Given the description of an element on the screen output the (x, y) to click on. 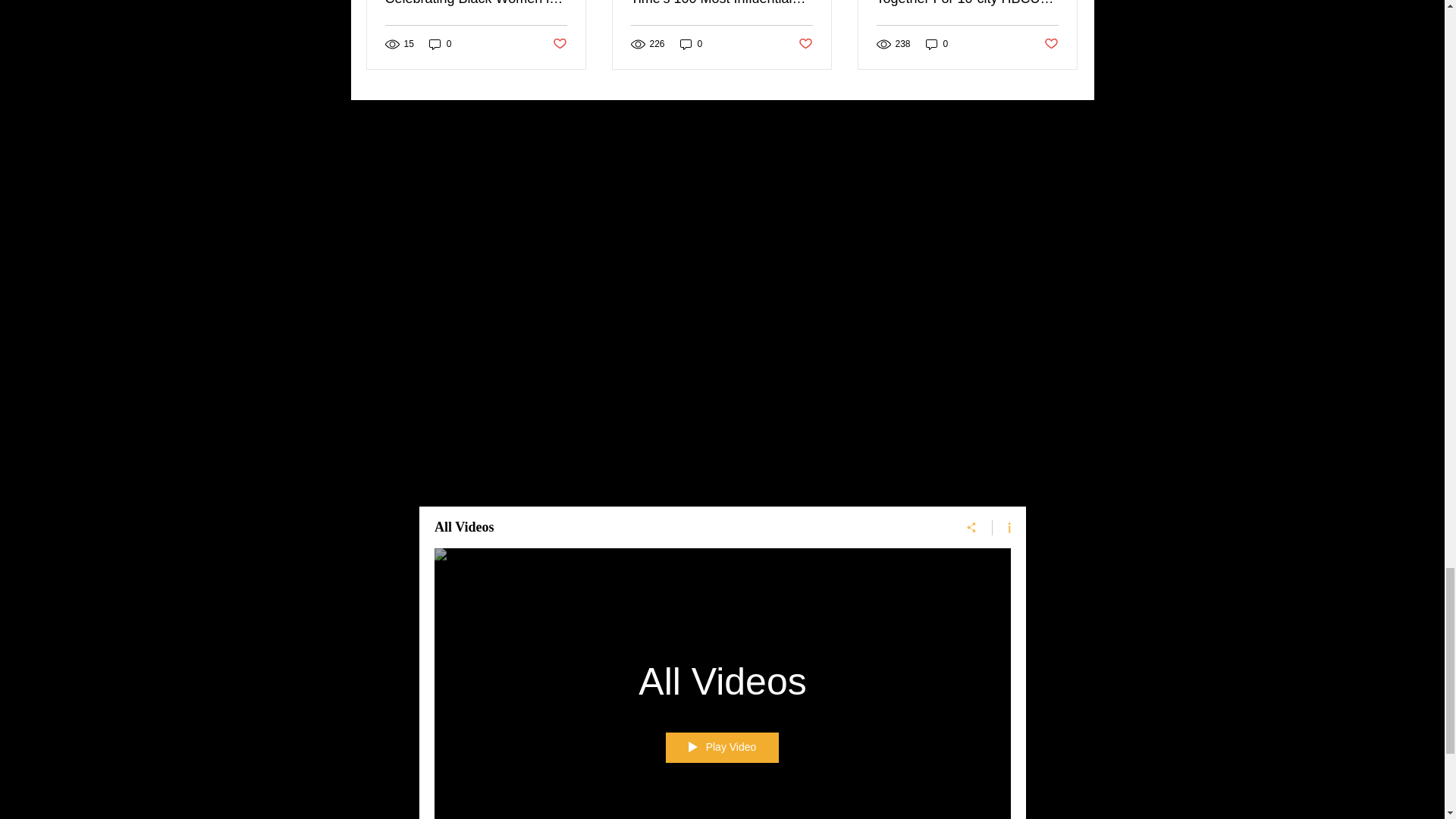
Post not marked as liked (804, 44)
Post not marked as liked (1050, 44)
All Videos (683, 527)
A Different World Back Together For 10-city HBCU Tour (967, 3)
0 (440, 43)
Post not marked as liked (558, 44)
All Videos (722, 681)
0 (937, 43)
Empowering Trailblazers: Celebrating Black Women in Sports (476, 3)
0 (691, 43)
